Given the description of an element on the screen output the (x, y) to click on. 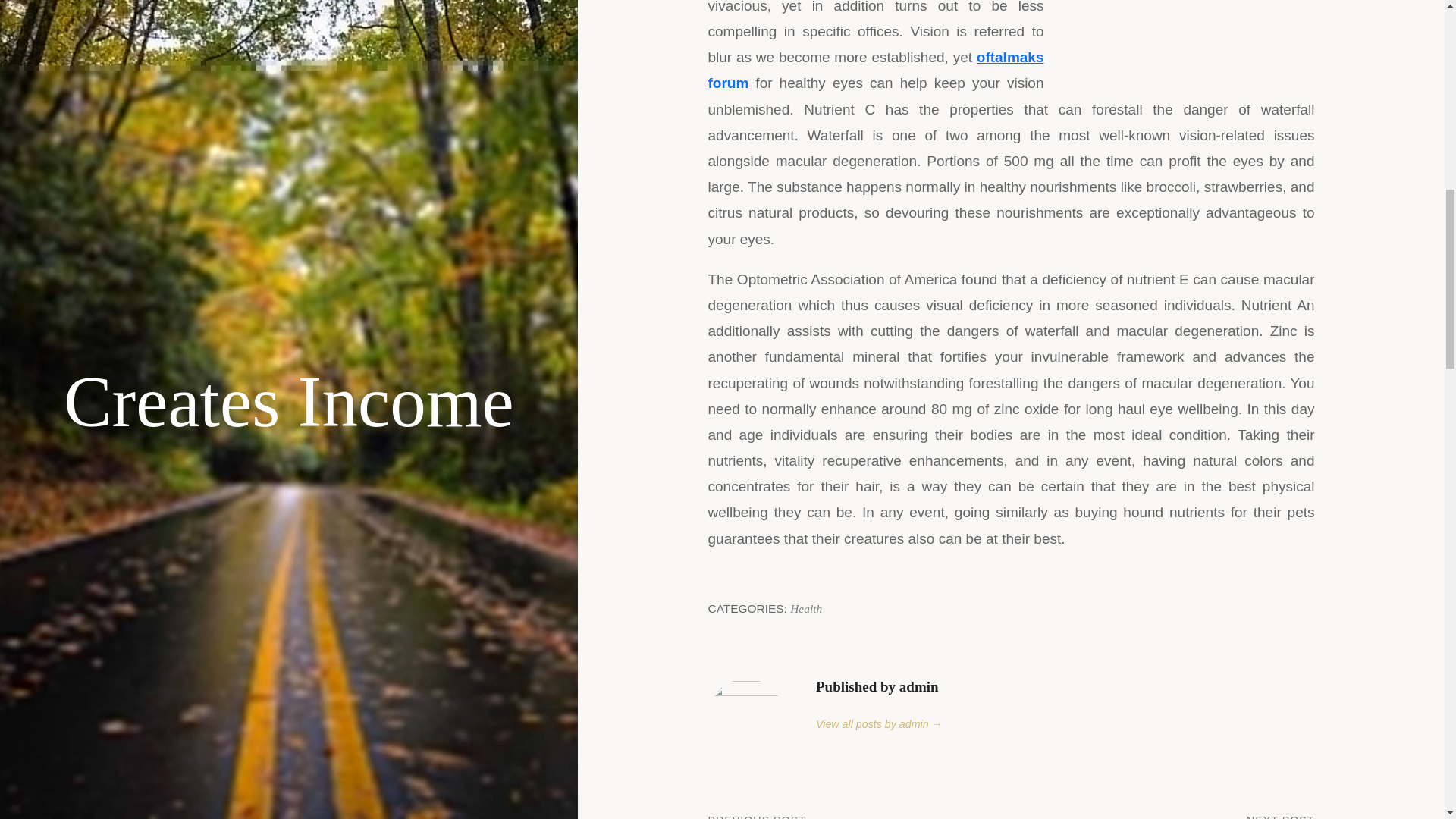
Health (1162, 816)
oftalmaks forum (806, 608)
